Given the description of an element on the screen output the (x, y) to click on. 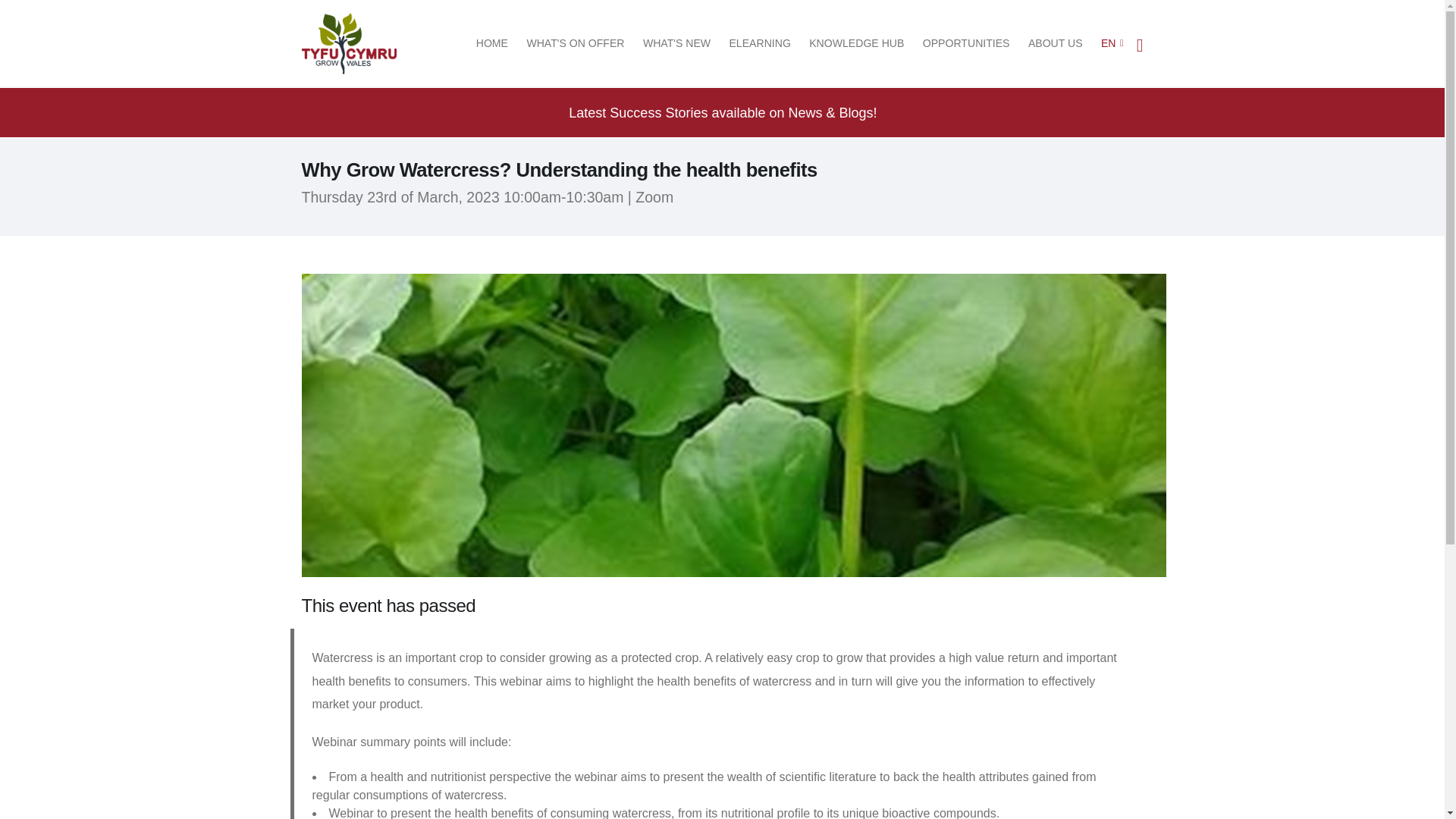
EN (1108, 43)
ABOUT US (1055, 43)
WHAT'S NEW (676, 43)
Opportunities (966, 43)
Knowledge Hub (856, 43)
ELEARNING (759, 43)
KNOWLEDGE HUB (856, 43)
ELEARNING (759, 43)
OPPORTUNITIES (966, 43)
What's New (676, 43)
HOME (492, 43)
WHAT'S ON OFFER (574, 43)
What's on Offer (574, 43)
